Given the description of an element on the screen output the (x, y) to click on. 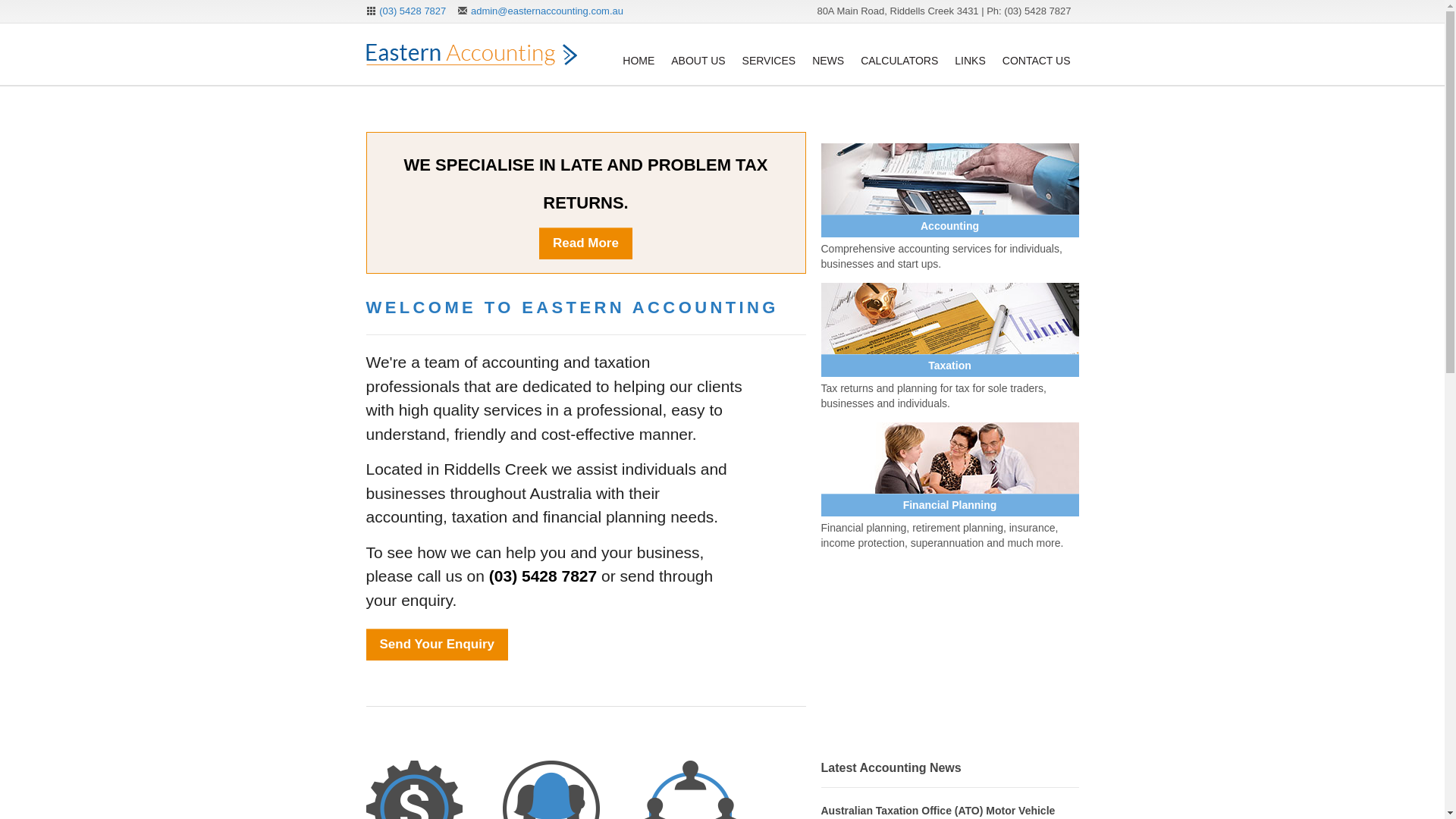
CALCULATORS Element type: text (899, 51)
(03) 5428 7827 Element type: text (412, 10)
Accounting Element type: text (949, 225)
admin@easternaccounting.com.au Element type: text (546, 10)
Taxation Element type: text (949, 365)
ABOUT US Element type: text (697, 51)
SERVICES Element type: text (769, 51)
HOME Element type: text (638, 51)
NEWS Element type: text (827, 51)
CONTACT US Element type: text (1036, 51)
LINKS Element type: text (969, 51)
Read More Element type: text (585, 243)
Send Your Enquiry Element type: text (436, 644)
Financial Planning Element type: text (949, 504)
